Given the description of an element on the screen output the (x, y) to click on. 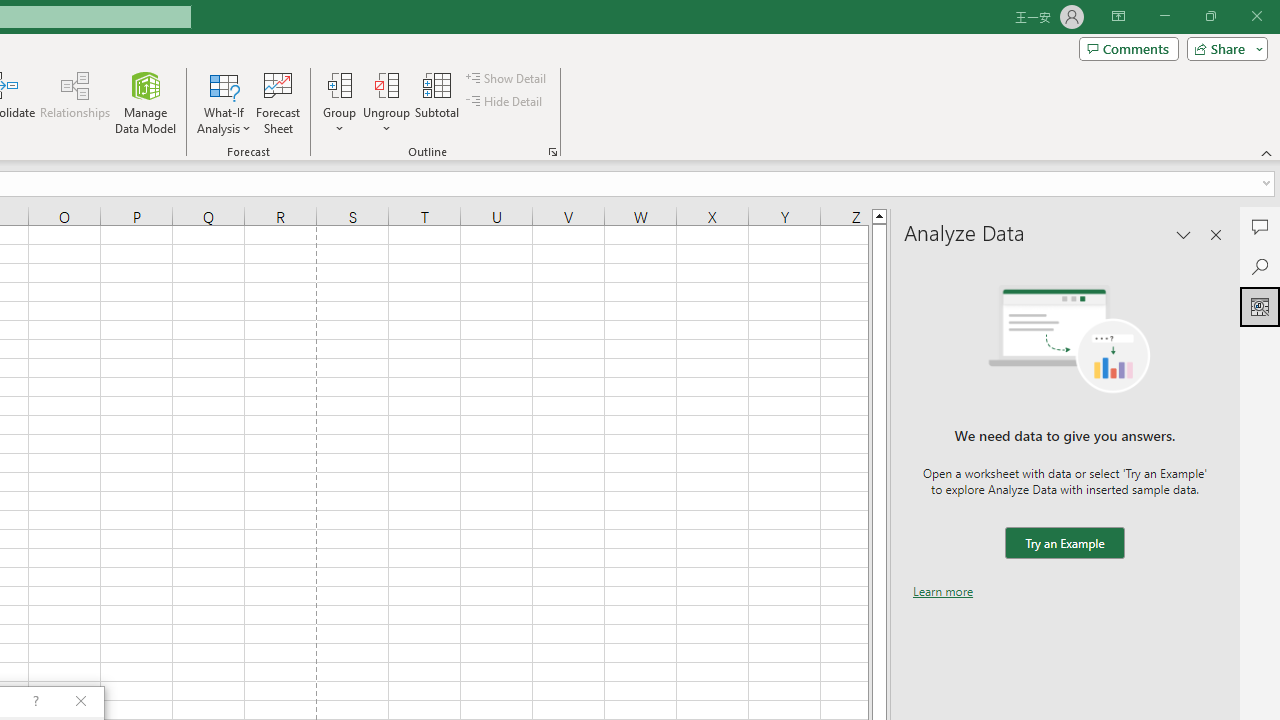
What-If Analysis (223, 102)
Show Detail (507, 78)
Group and Outline Settings (552, 151)
